Given the description of an element on the screen output the (x, y) to click on. 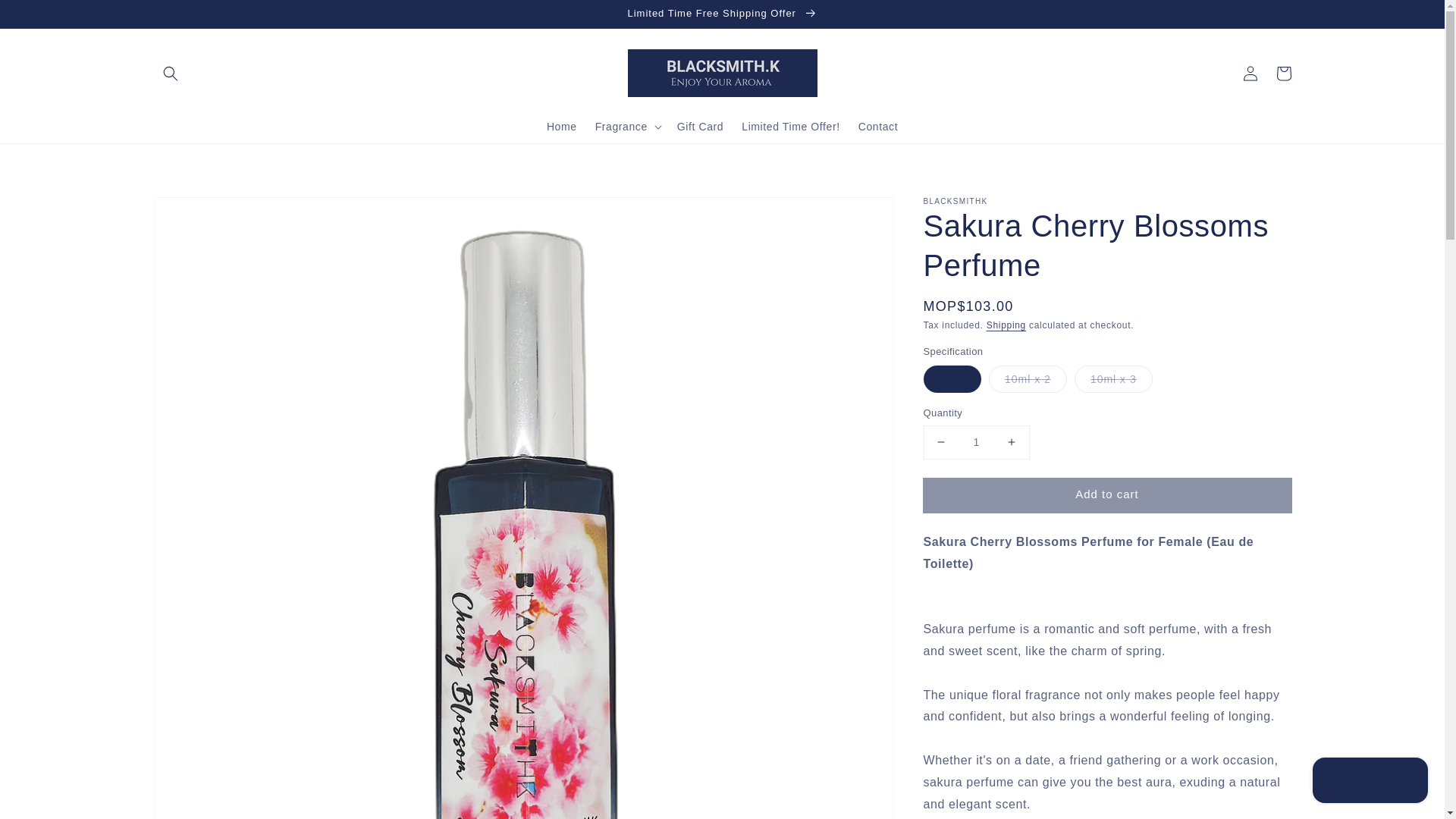
Shopify online store chat (1369, 781)
Cart (1283, 73)
Skip to product information (198, 213)
Limited Time Offer! (790, 126)
Decrease quantity for Sakura Cherry Blossoms Perfume (940, 441)
Log in (1249, 73)
Gift Card (700, 126)
1 (976, 441)
Home (561, 126)
